Given the description of an element on the screen output the (x, y) to click on. 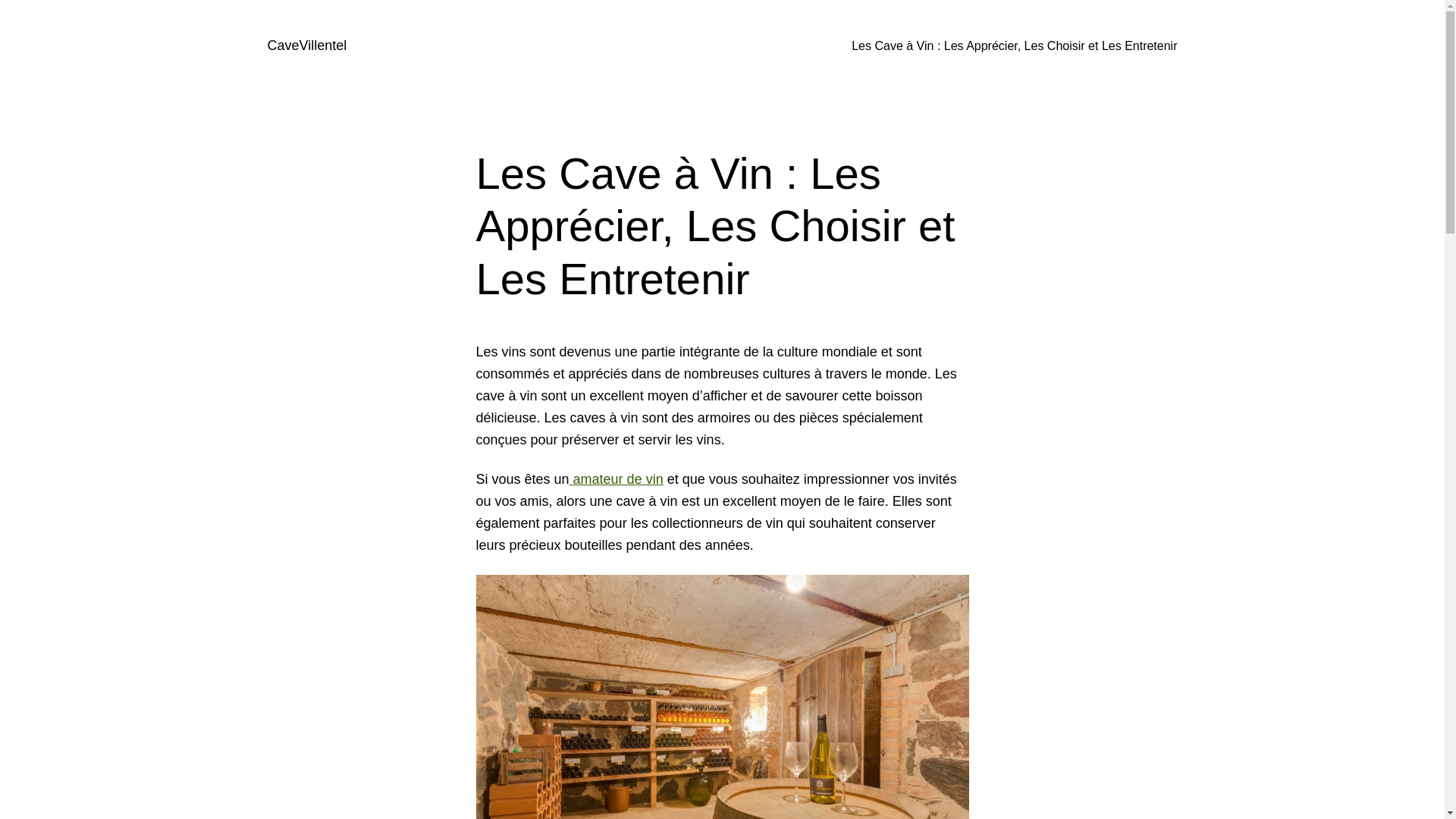
CaveVillentel Element type: text (306, 45)
amateur de vin Element type: text (616, 478)
